Given the description of an element on the screen output the (x, y) to click on. 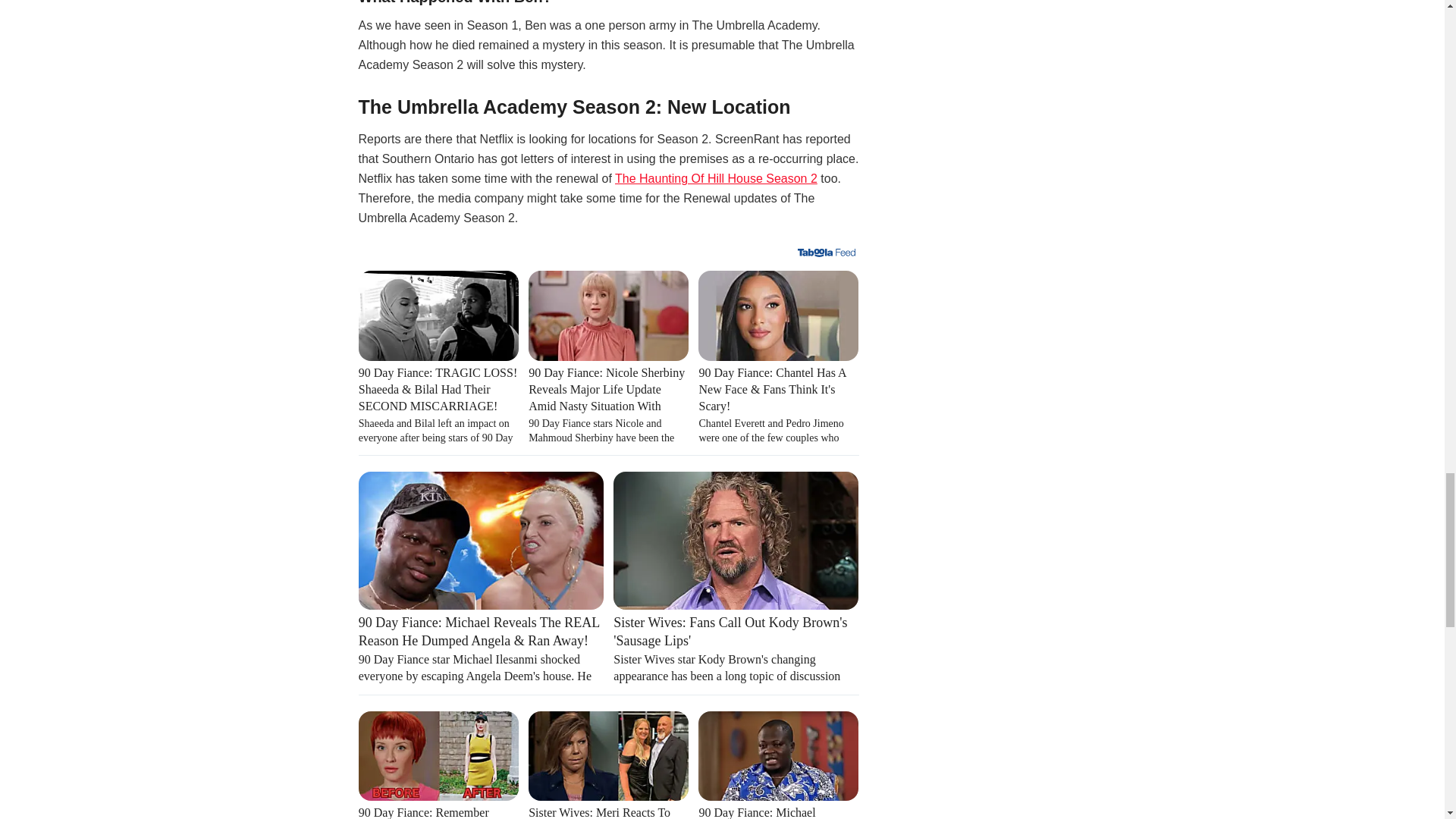
Sister Wives: Fans Call Out Kody Brown's 'Sausage Lips' (735, 648)
